Given the description of an element on the screen output the (x, y) to click on. 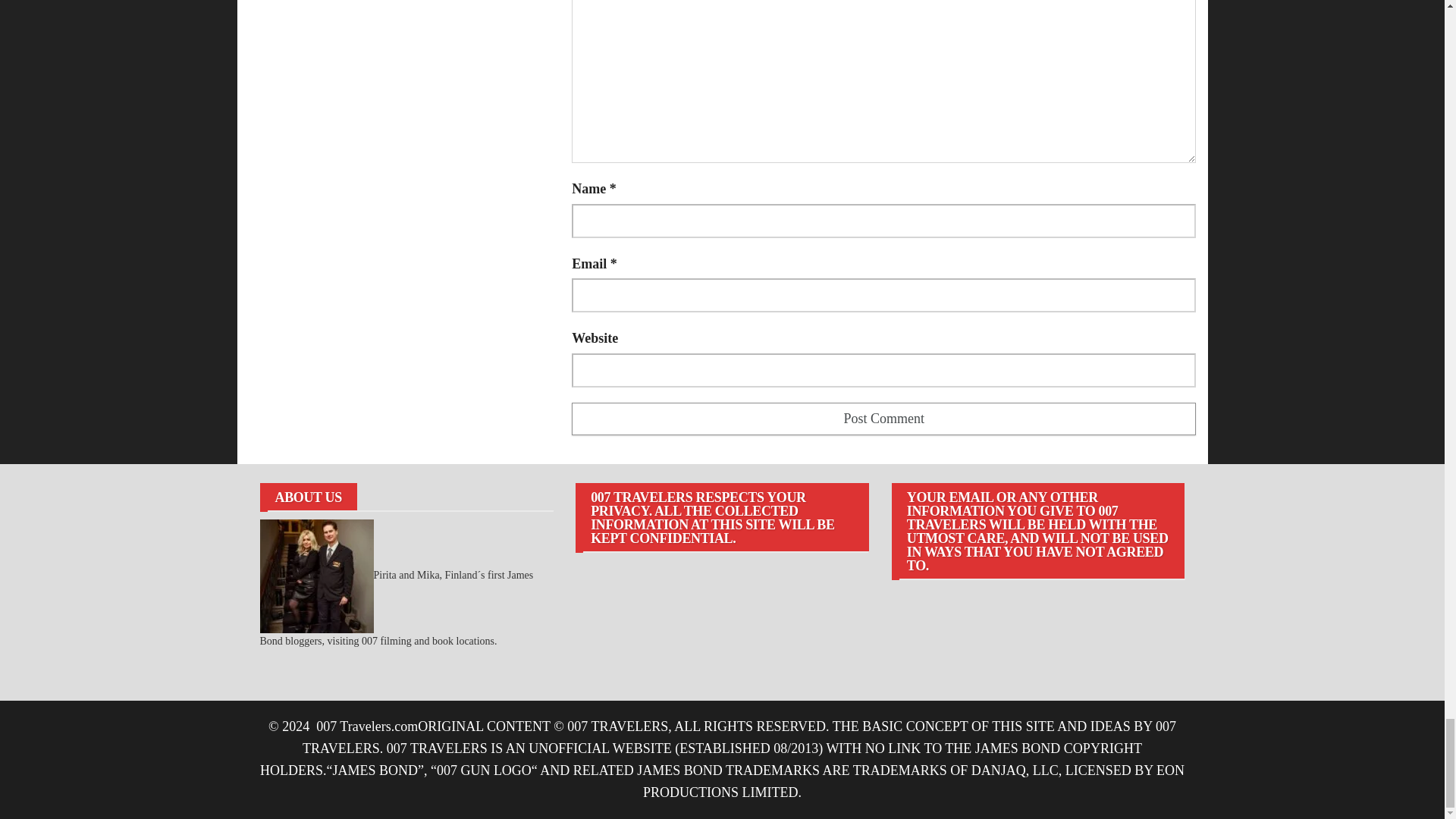
Post Comment (883, 418)
